Given the description of an element on the screen output the (x, y) to click on. 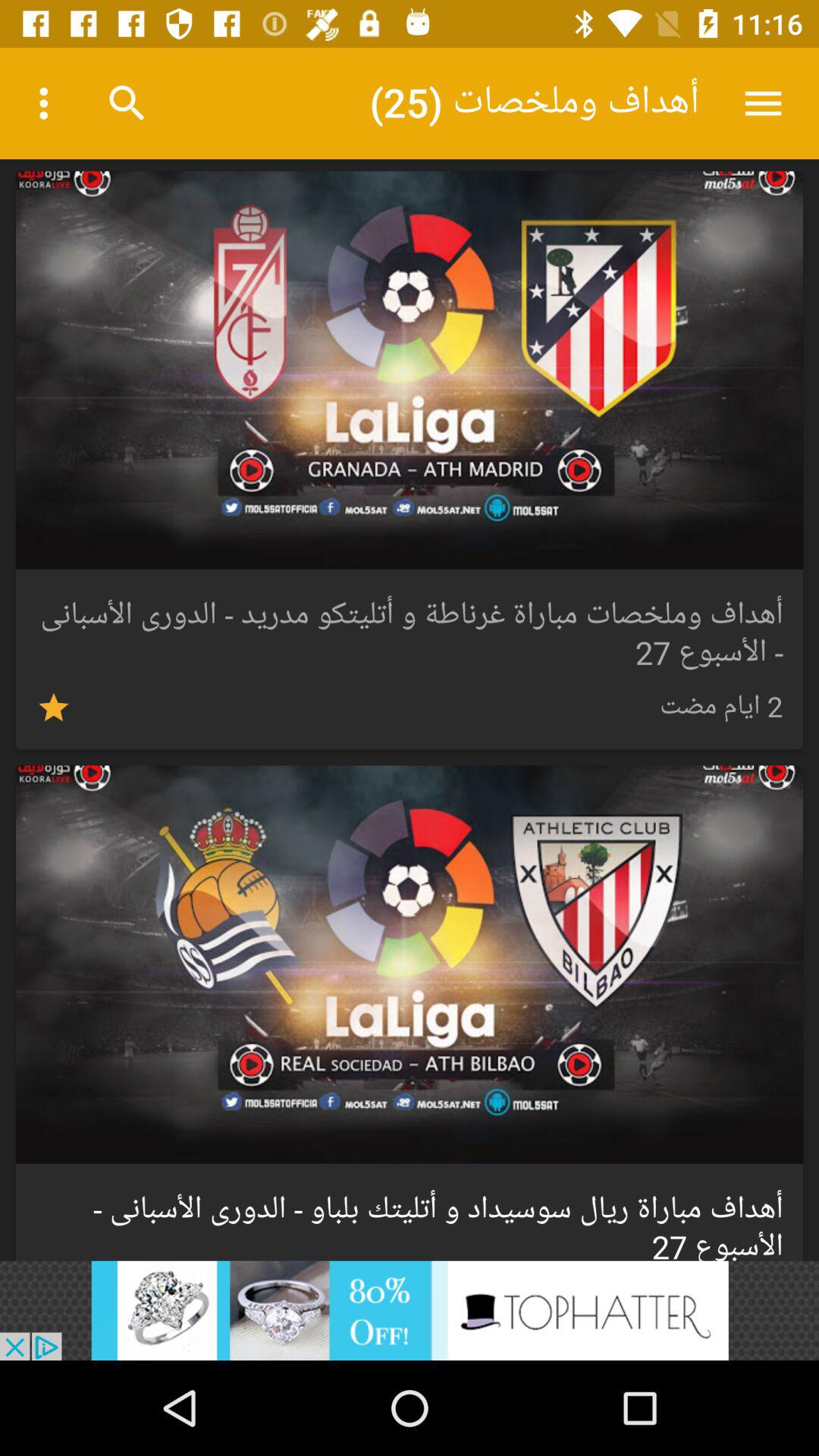
click on search icon (127, 103)
